Given the description of an element on the screen output the (x, y) to click on. 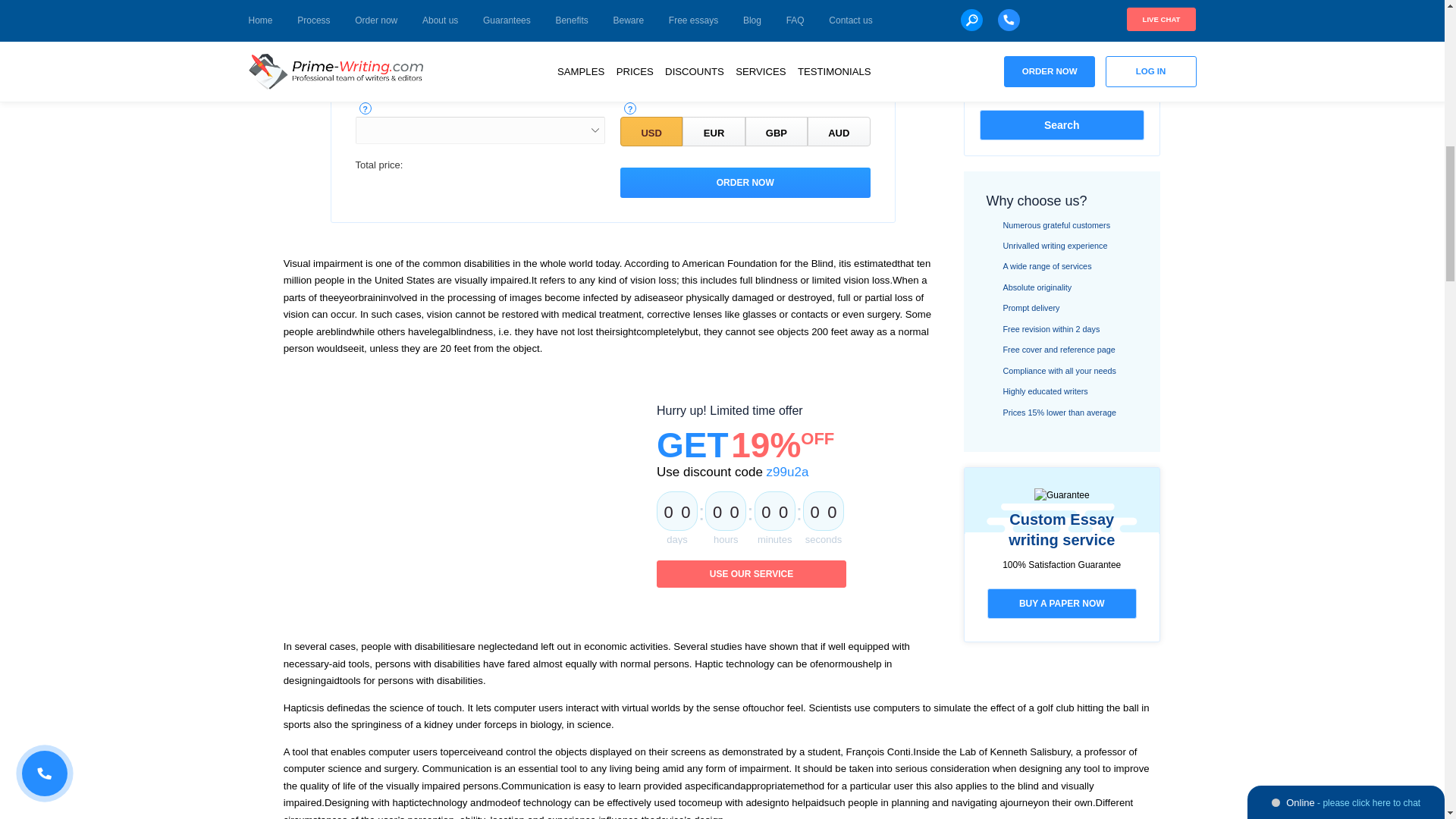
USD (651, 131)
Search (1061, 124)
Order now (745, 182)
GBP (776, 131)
EUR (713, 131)
Order now (745, 182)
Search (1061, 124)
AUD (838, 131)
BUY A PAPER NOW (1062, 603)
